Given the description of an element on the screen output the (x, y) to click on. 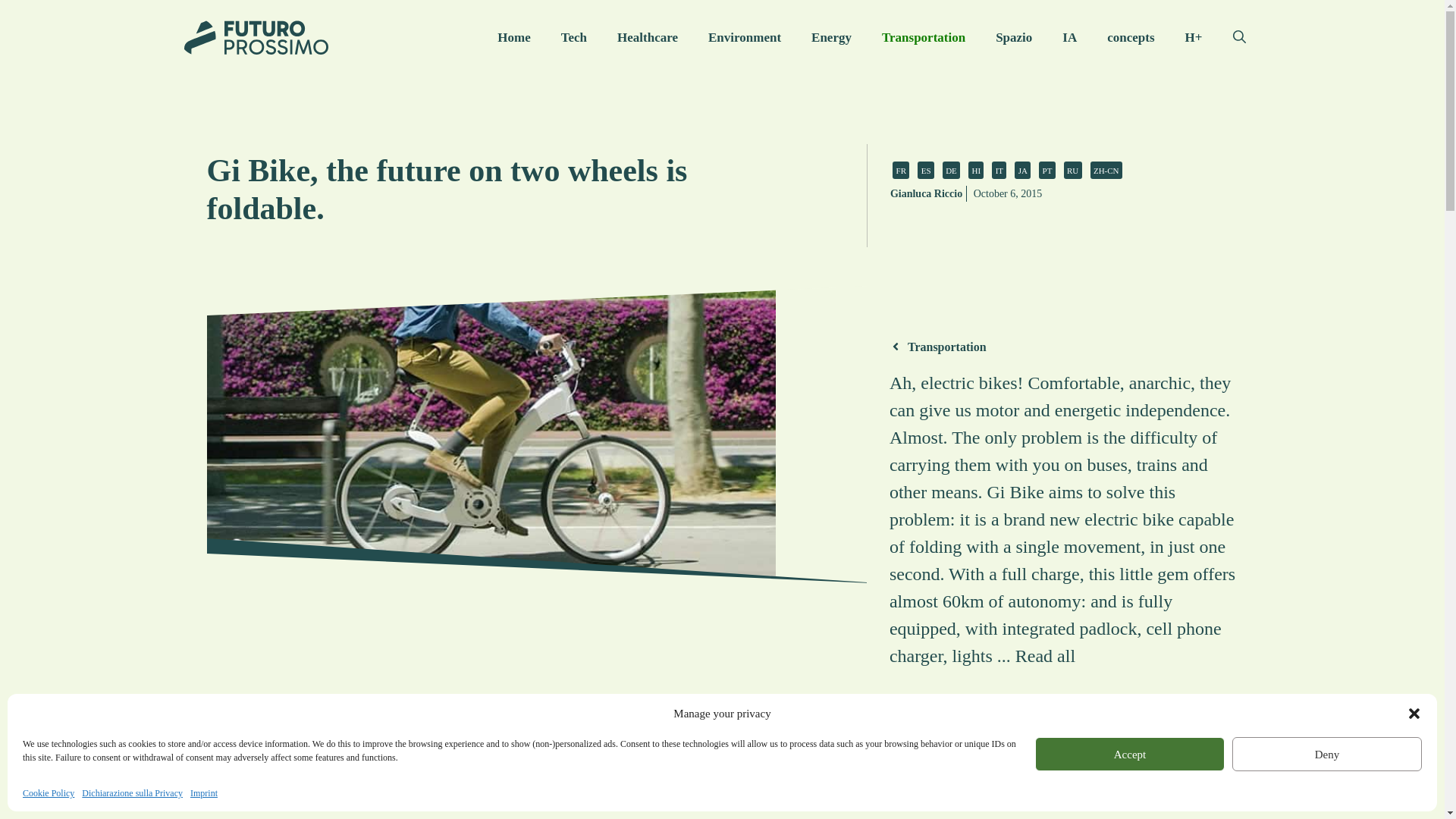
Cookie Policy (48, 793)
IA (1069, 37)
Deny (1326, 754)
German (950, 170)
Portuguese (1047, 170)
Environment (744, 37)
Home (512, 37)
French (900, 170)
Japanese (1022, 170)
Energy (831, 37)
